Given the description of an element on the screen output the (x, y) to click on. 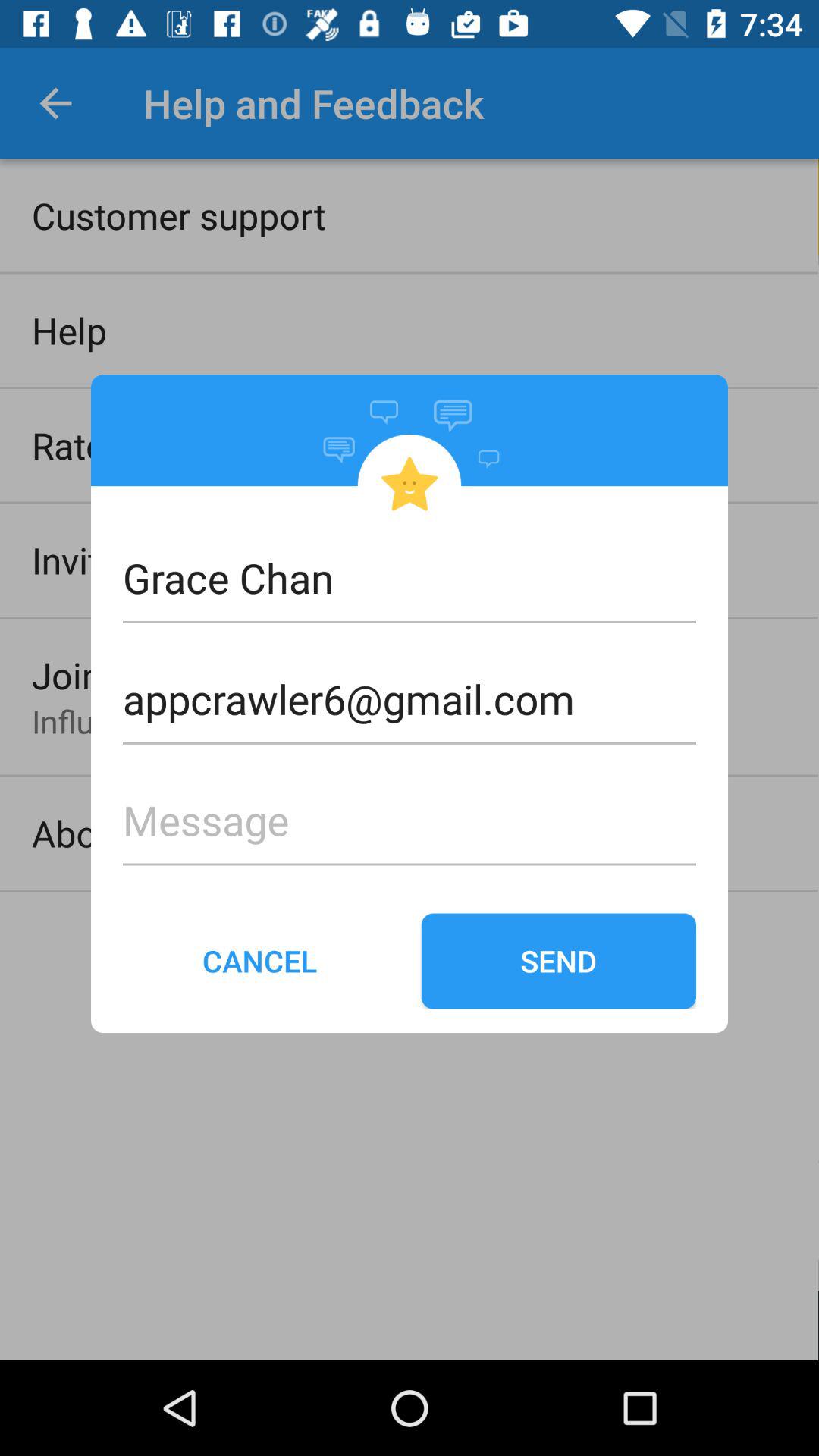
tap the message (409, 795)
